Given the description of an element on the screen output the (x, y) to click on. 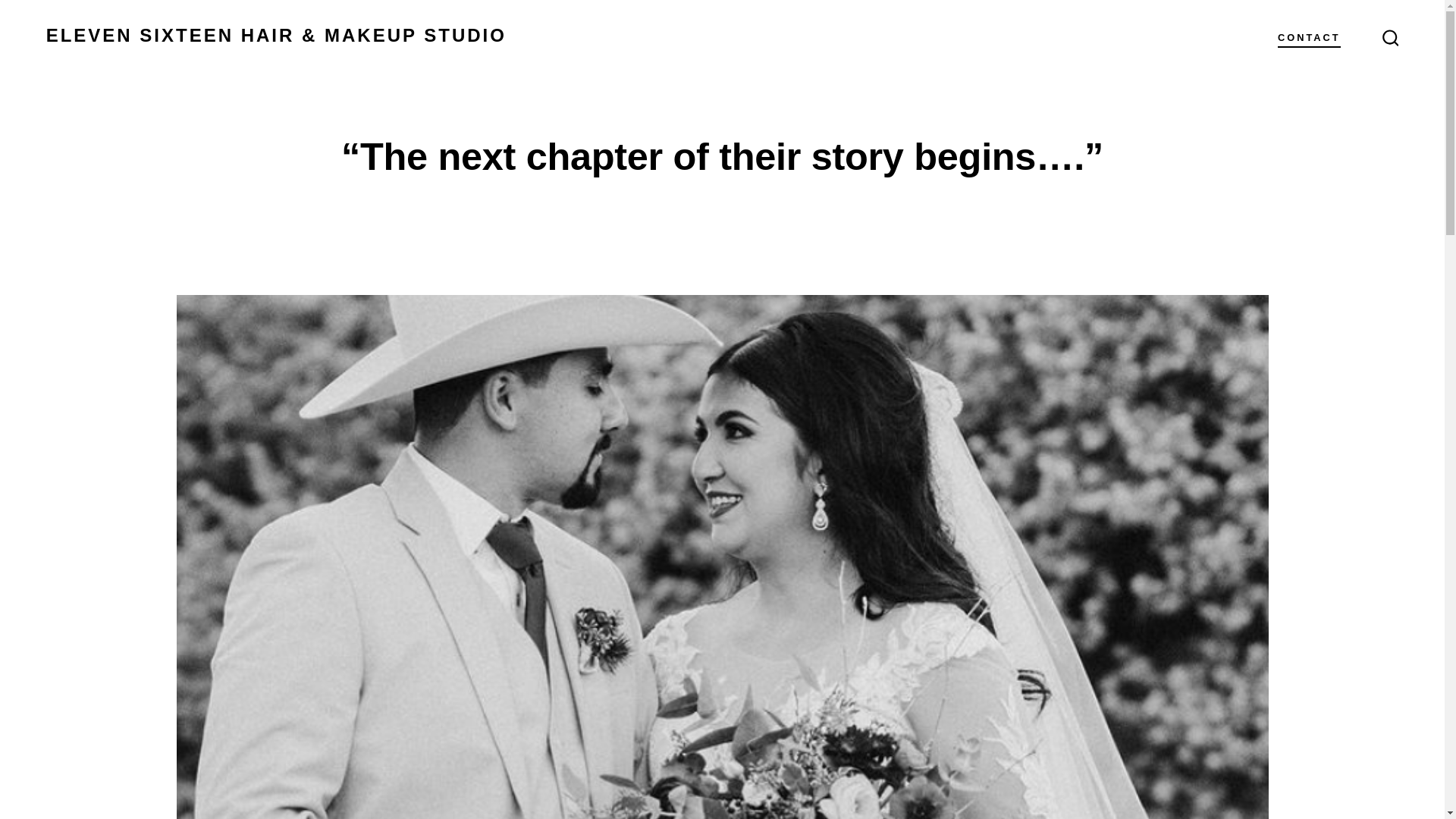
CONTACT (1309, 38)
SEARCH TOGGLE (1390, 38)
